Given the description of an element on the screen output the (x, y) to click on. 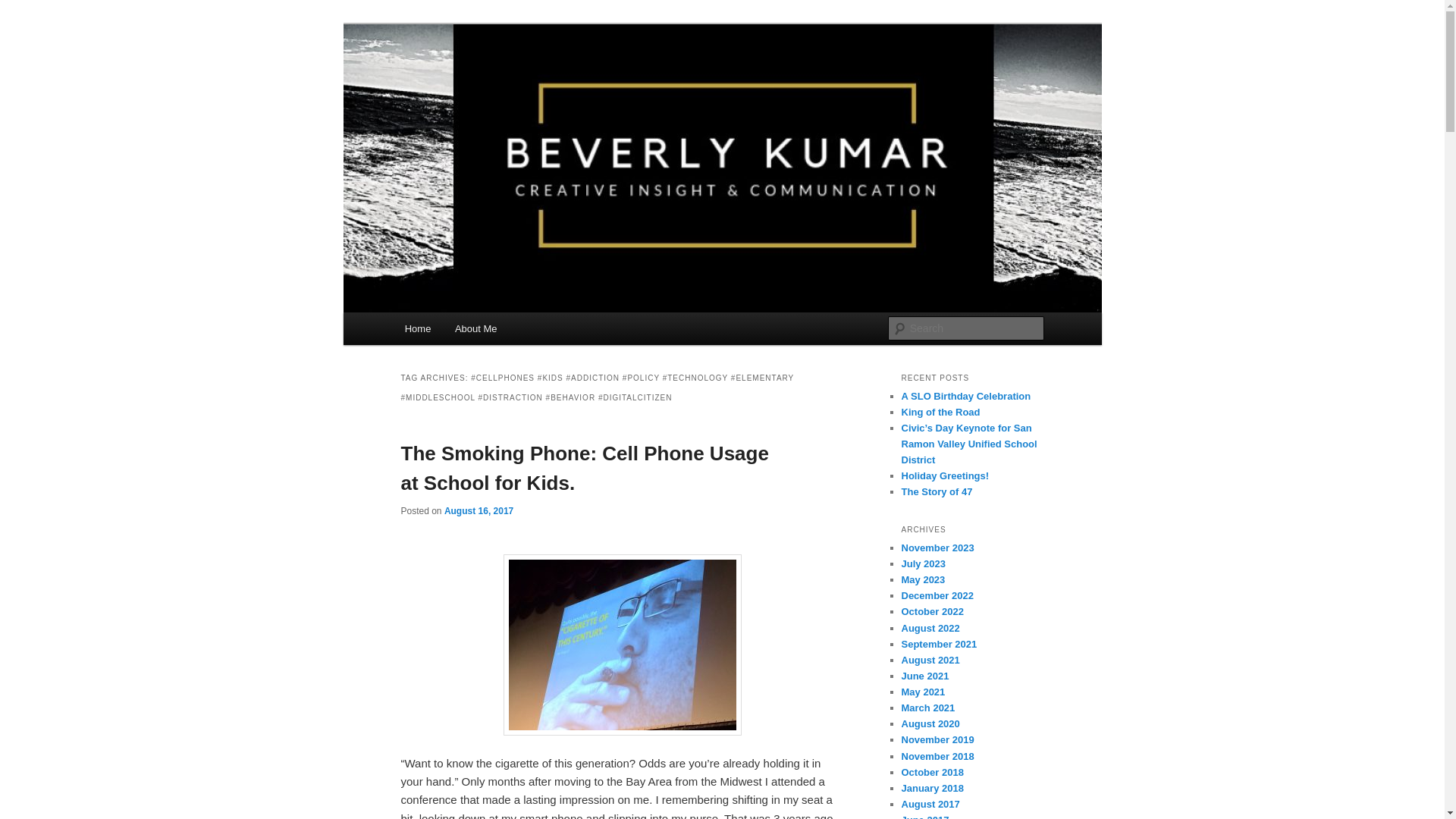
July 2023 (922, 563)
About Me (475, 328)
May 2023 (922, 579)
A SLO Birthday Celebration (965, 396)
Holiday Greetings! (944, 475)
Home (417, 328)
The Smoking Phone: Cell Phone Usage at School for Kids. (584, 468)
BeverlyKumar.com (503, 78)
Search (24, 8)
August 2022 (930, 627)
December 2022 (936, 595)
September 2021 (938, 644)
November 2023 (937, 547)
August 16, 2017 (478, 510)
King of the Road (940, 411)
